Given the description of an element on the screen output the (x, y) to click on. 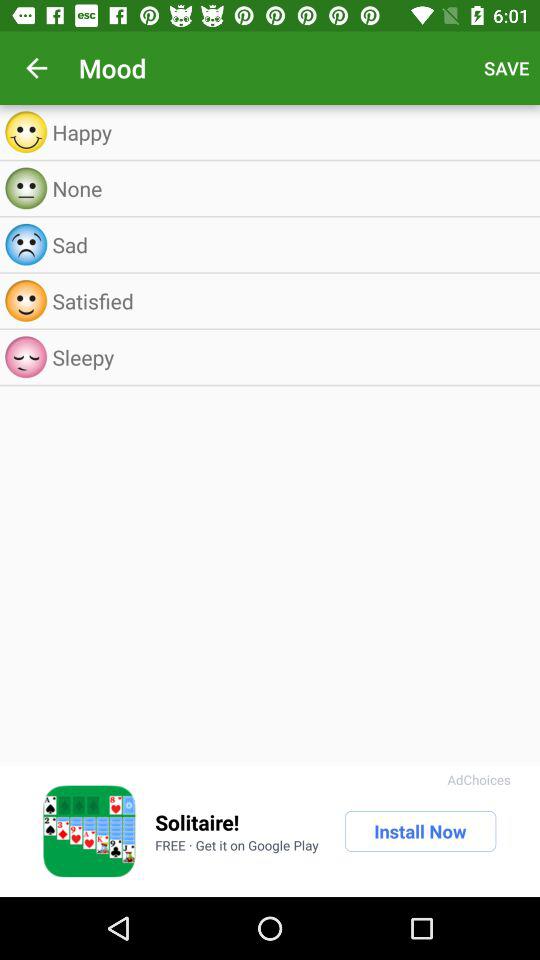
select save icon (506, 67)
